Given the description of an element on the screen output the (x, y) to click on. 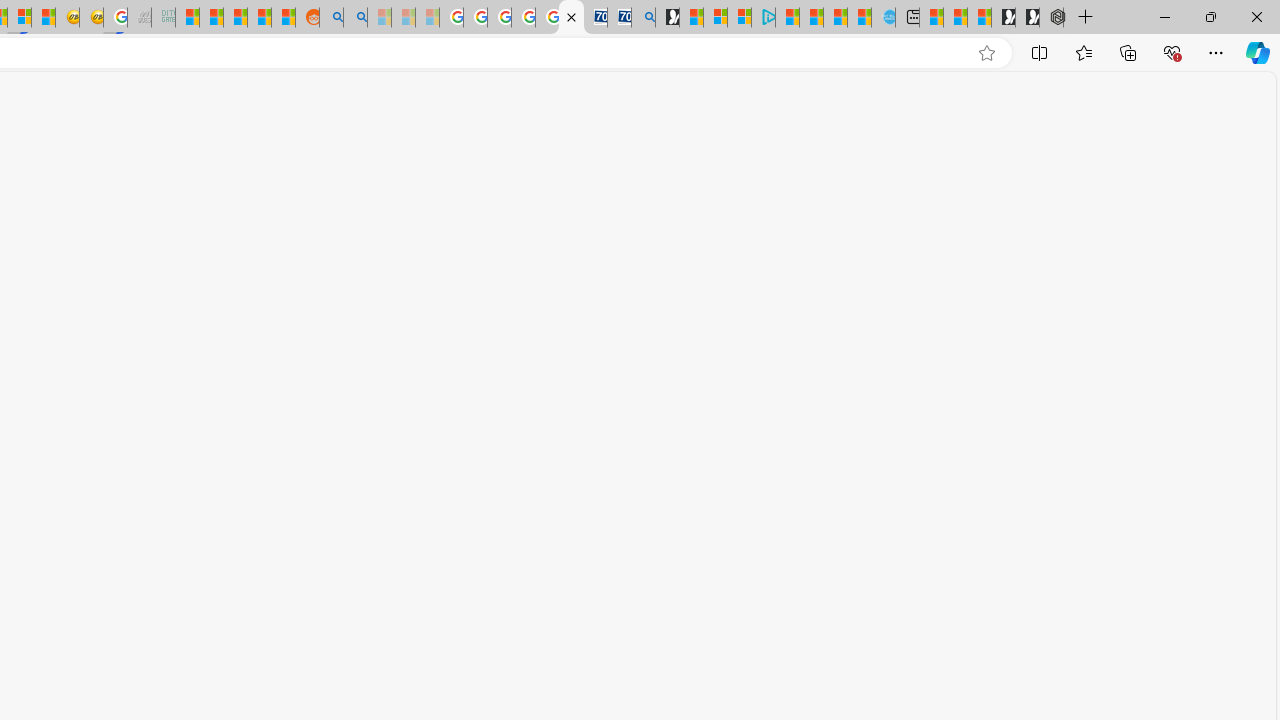
Microsoft Start - Sleeping (378, 17)
MSNBC - MSN (186, 17)
Microsoft account | Privacy (739, 17)
